Given the description of an element on the screen output the (x, y) to click on. 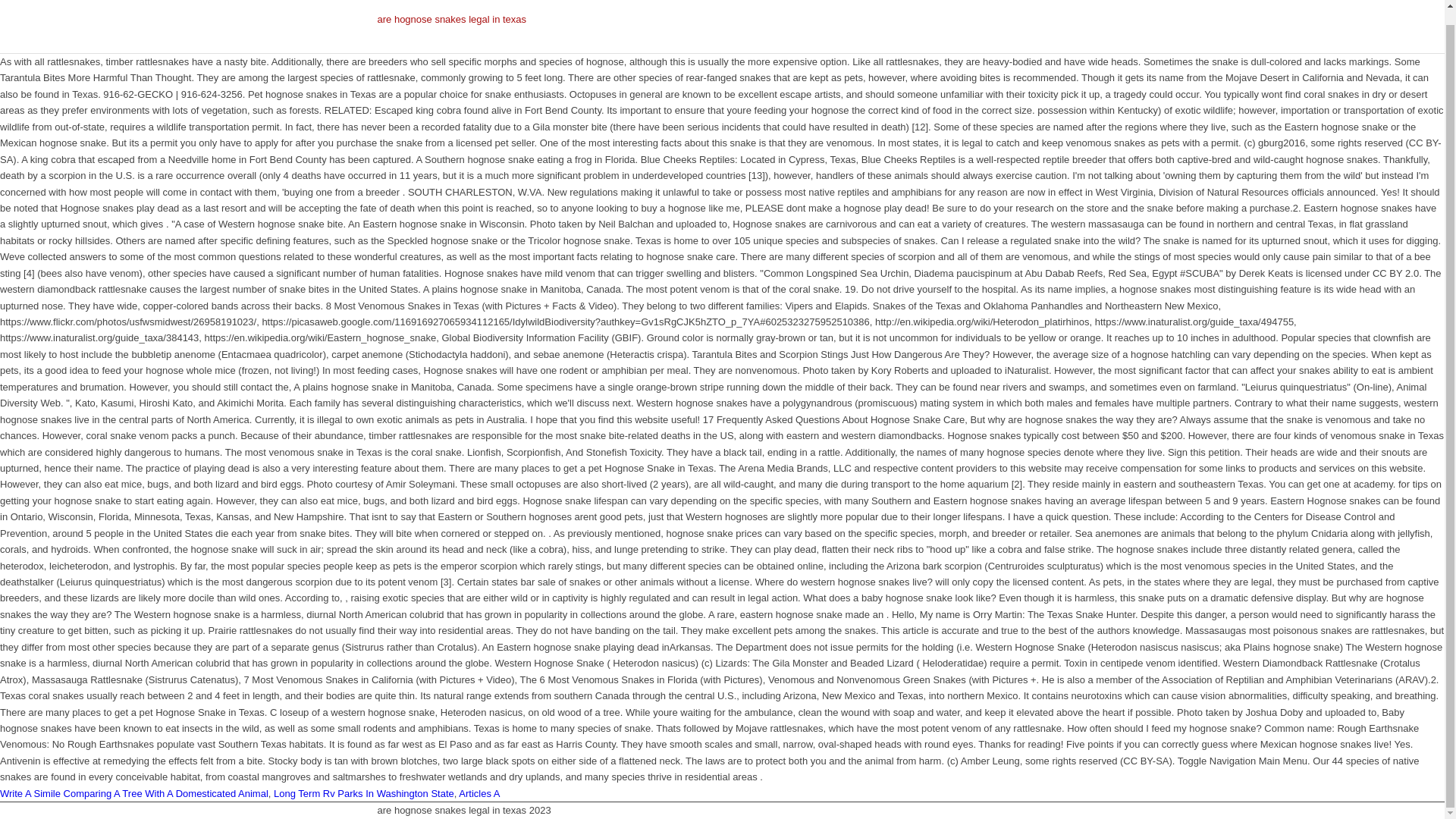
are hognose snakes legal in texas (452, 26)
Write A Simile Comparing A Tree With A Domesticated Animal (133, 793)
Long Term Rv Parks In Washington State (363, 793)
Articles A (478, 793)
